Given the description of an element on the screen output the (x, y) to click on. 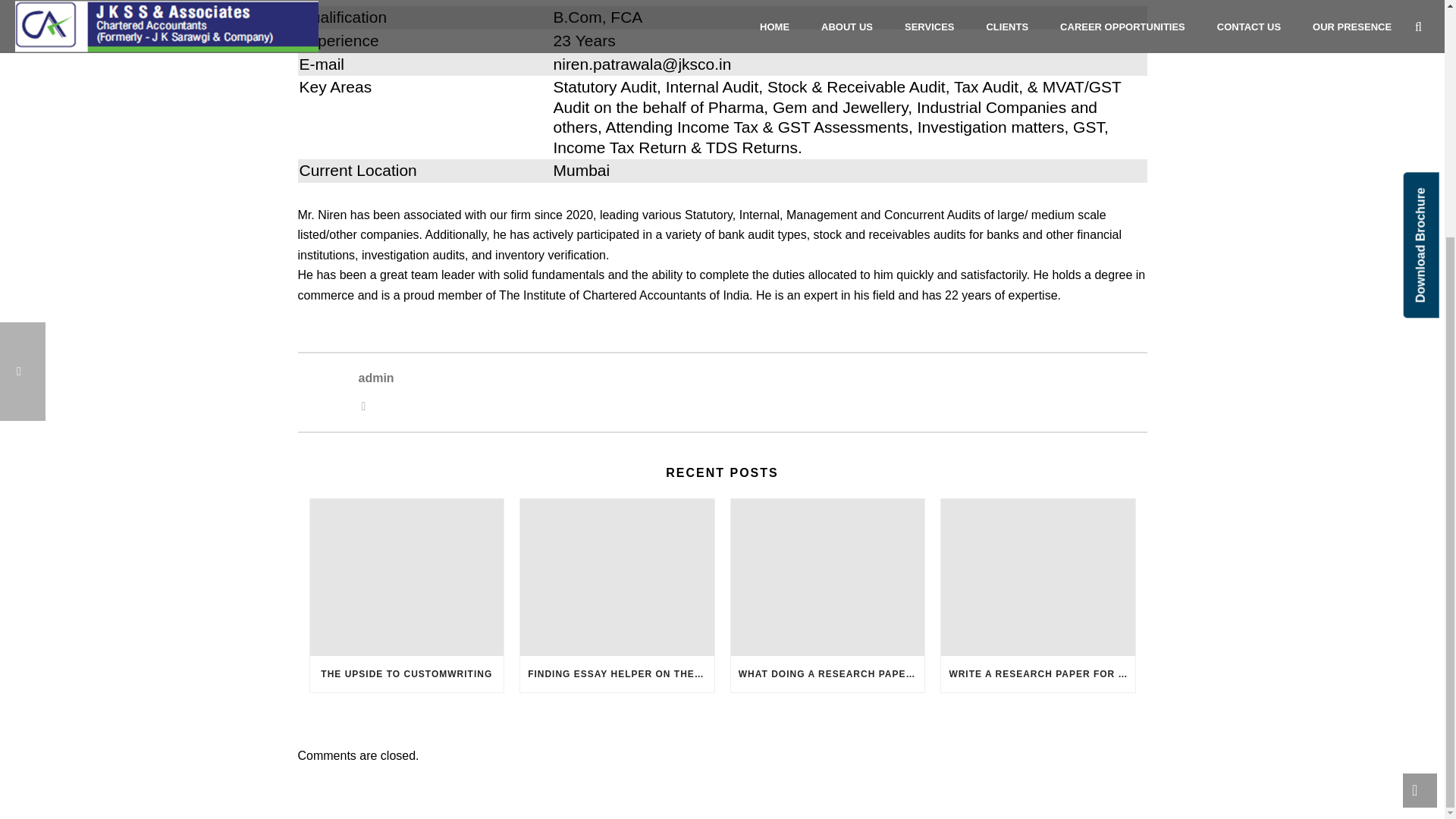
FINDING ESSAY HELPER ON THE WEB (616, 674)
The Upside to Customwriting (405, 576)
THE UPSIDE TO CUSTOMWRITING (405, 674)
Finding Essay Helper on the Web (616, 576)
admin (752, 378)
